Given the description of an element on the screen output the (x, y) to click on. 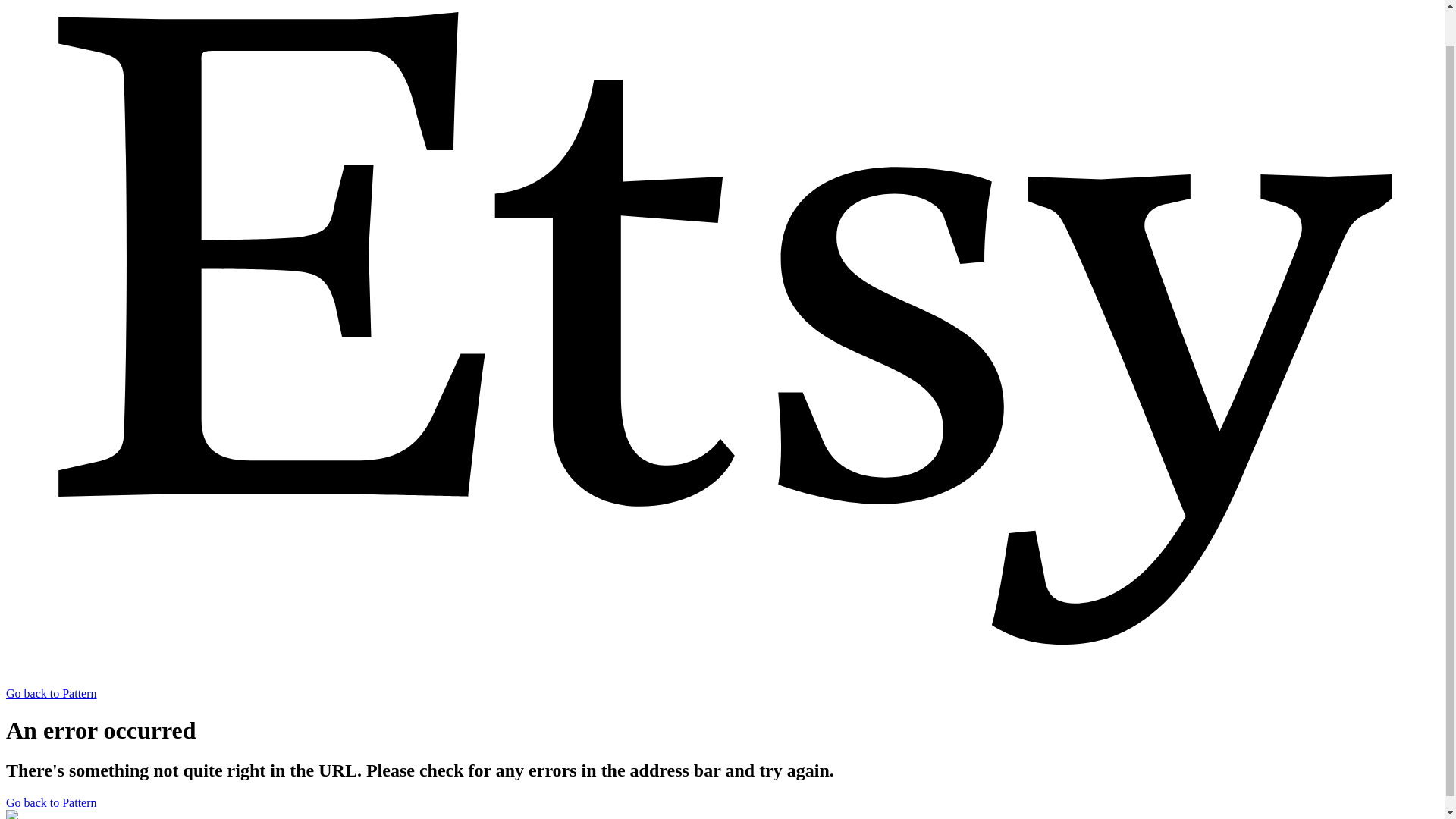
Go back to Pattern (51, 802)
